Given the description of an element on the screen output the (x, y) to click on. 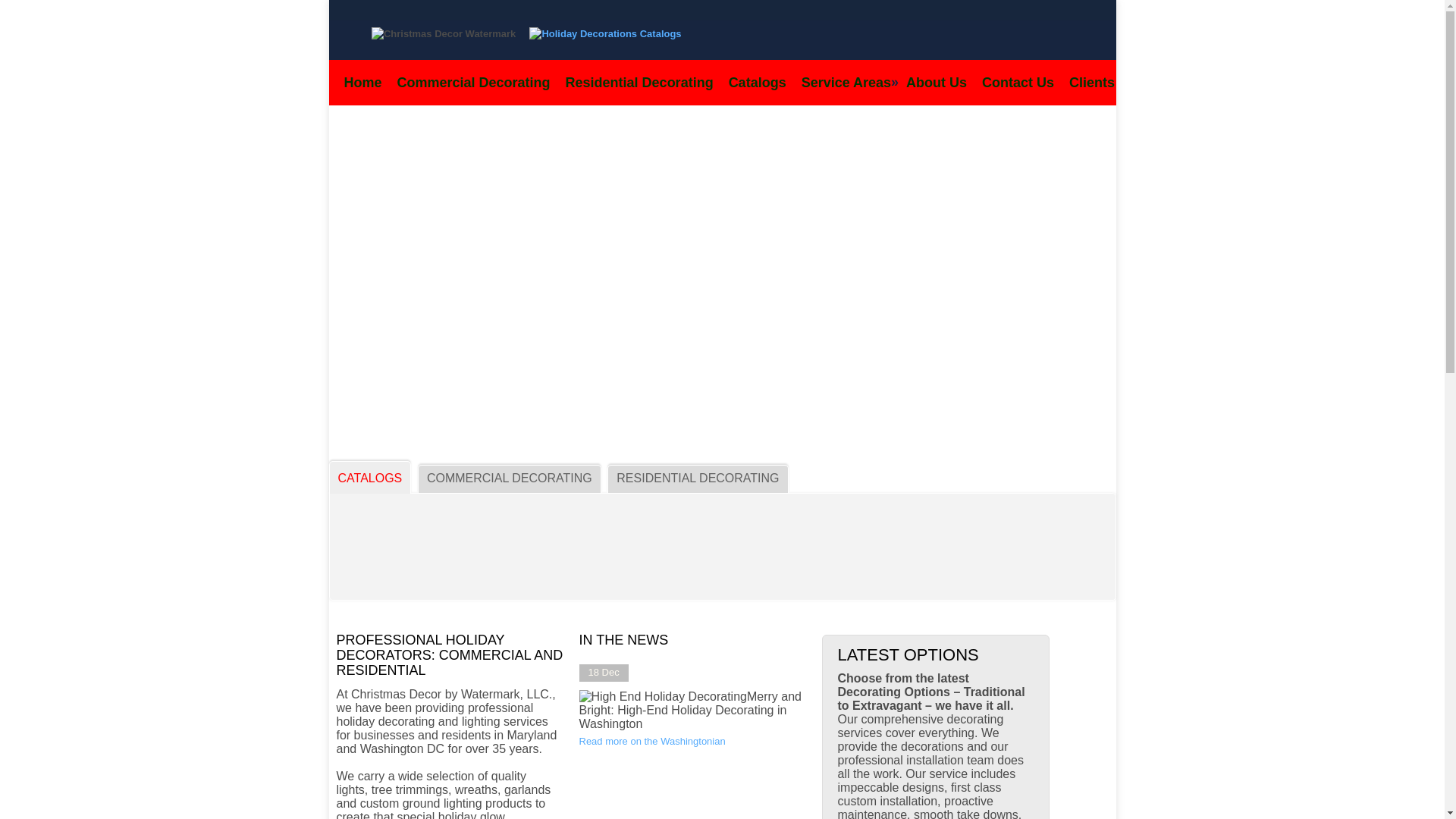
CATALOGS (369, 477)
LATEST OPTIONS (907, 655)
Home (362, 82)
Residential Decorating (639, 82)
RESIDENTIAL DECORATING (697, 479)
Commercial Decorating (473, 82)
Read more on the Washingtonian (652, 740)
Clients (1091, 82)
About Us (935, 82)
Contact Us (1017, 82)
COMMERCIAL DECORATING (509, 479)
Catalogs (757, 82)
